Given the description of an element on the screen output the (x, y) to click on. 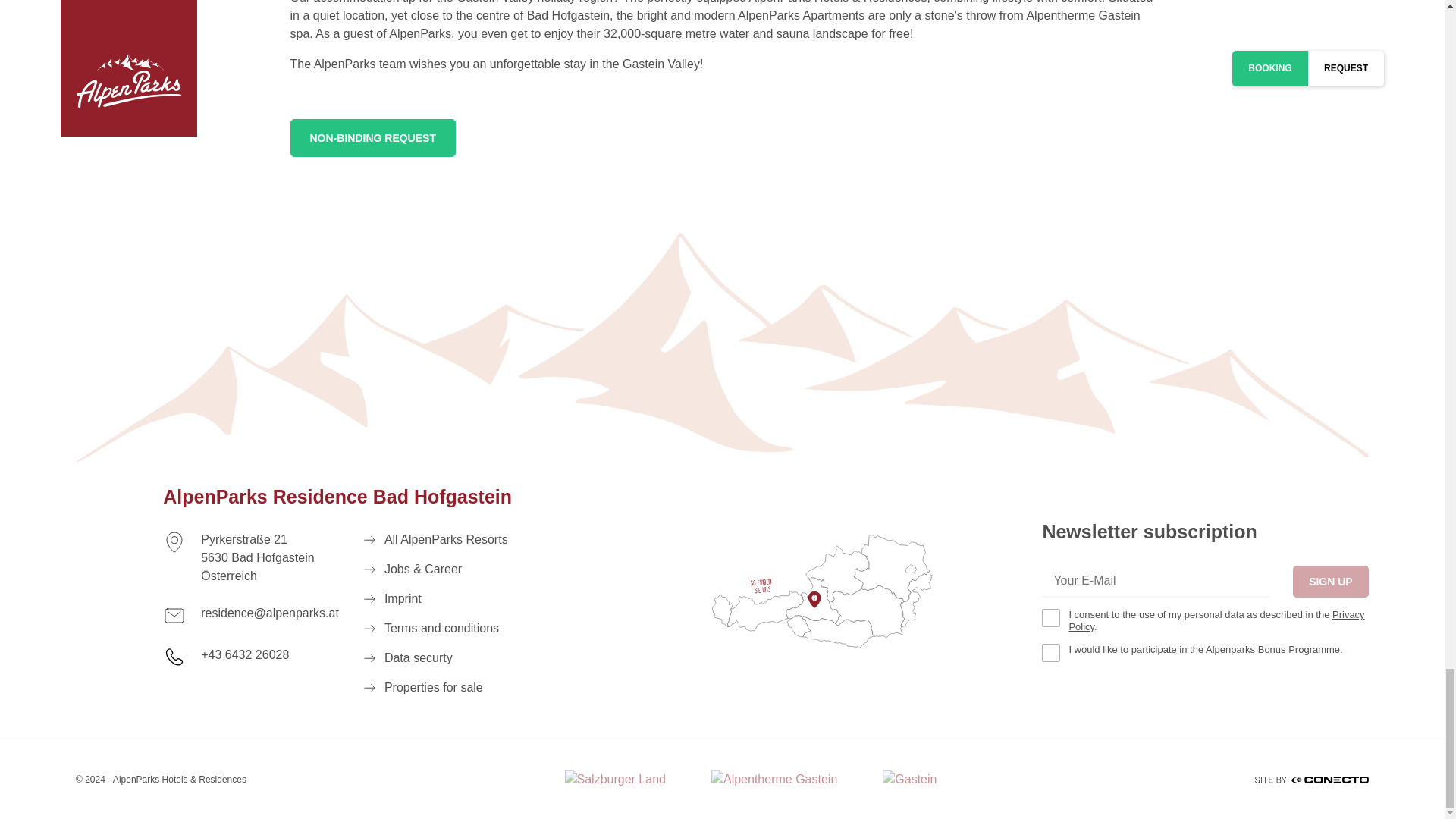
Salzburger Land (614, 779)
Gastein (909, 779)
Alpentherme Gastein (774, 779)
